Given the description of an element on the screen output the (x, y) to click on. 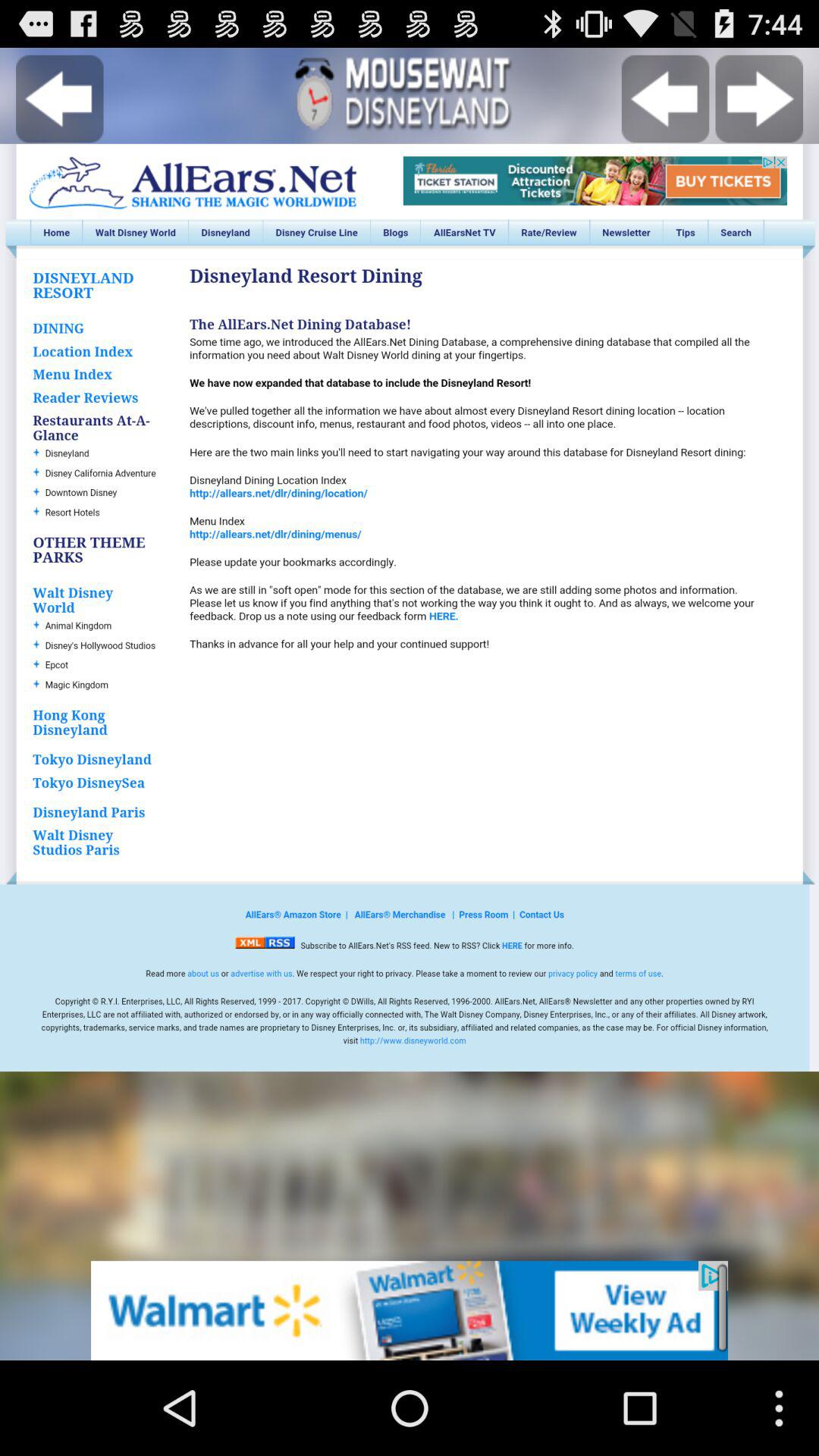
go back (59, 98)
